Given the description of an element on the screen output the (x, y) to click on. 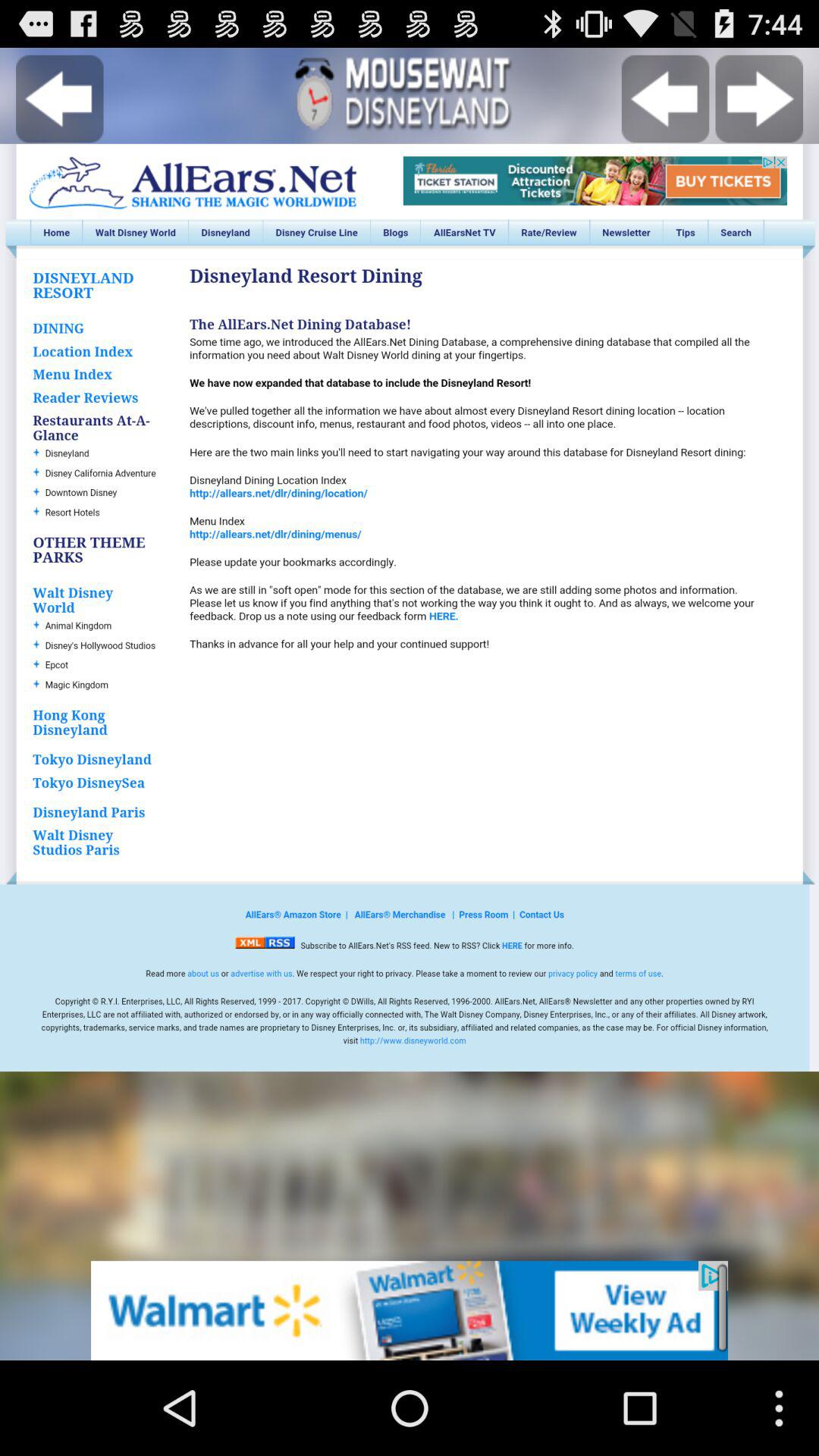
go back (59, 98)
